Given the description of an element on the screen output the (x, y) to click on. 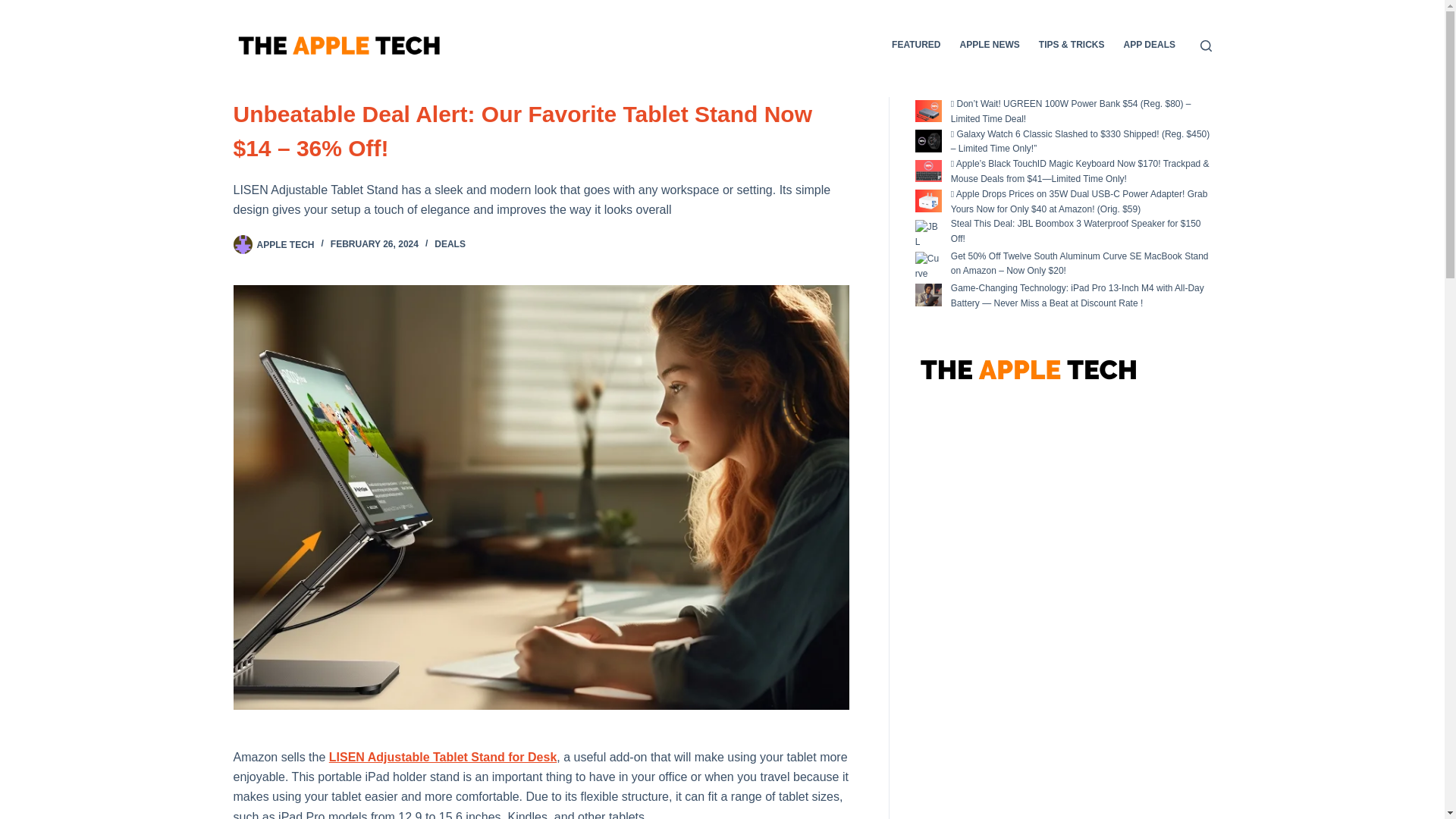
LISEN Adjustable Tablet Stand for Desk (443, 757)
Posts by Apple Tech (285, 244)
APPLE TECH (285, 244)
DEALS (449, 244)
Skip to content (15, 7)
